Given the description of an element on the screen output the (x, y) to click on. 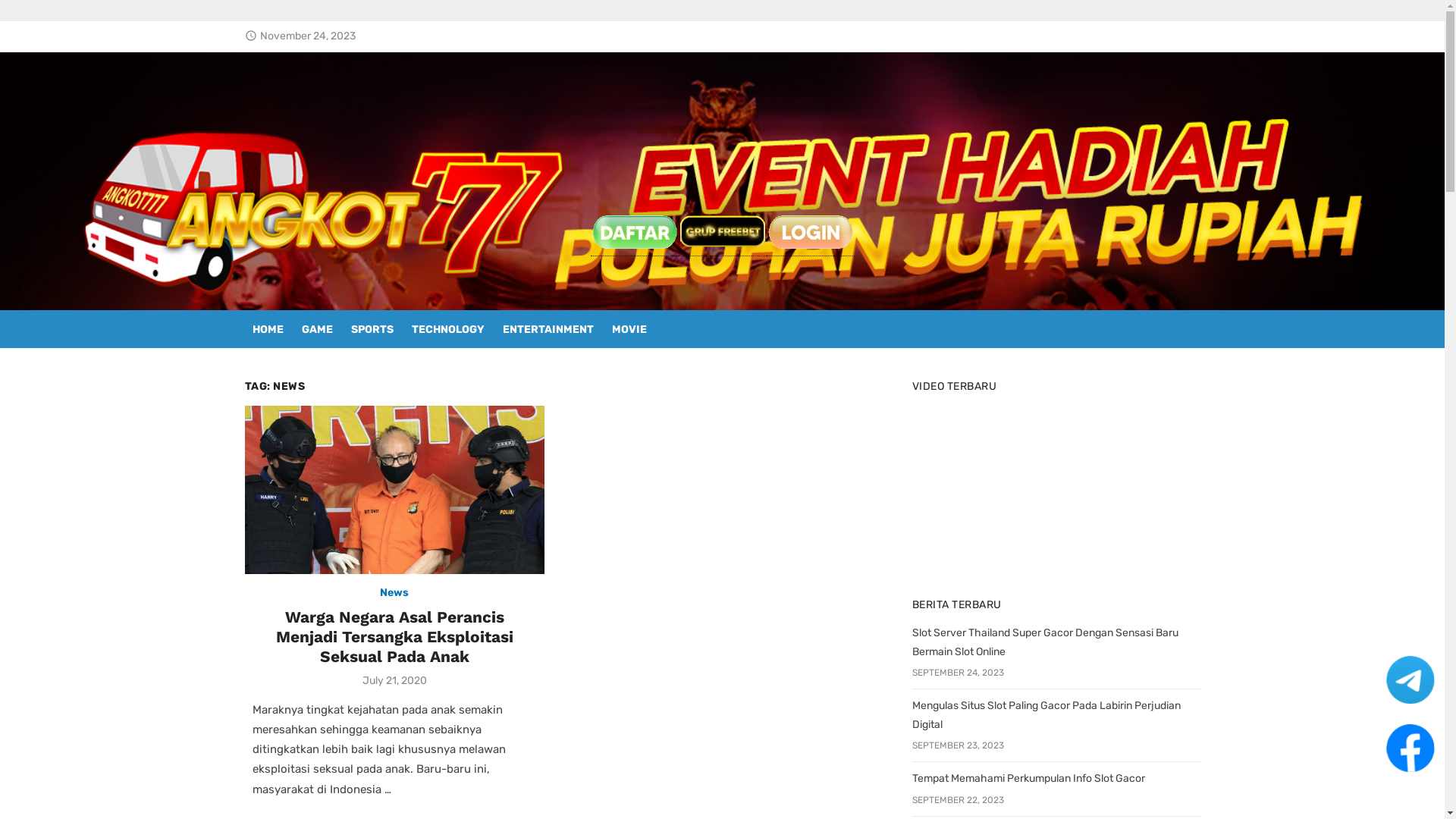
News Element type: text (393, 592)
facebook angkot777 Element type: hover (1408, 744)
MOVIE Element type: text (628, 329)
Angkot777 | 301BinaryOptions Element type: text (349, 208)
HOME Element type: text (266, 329)
telegram angkot777 Element type: hover (1406, 674)
login angkot777 Element type: hover (809, 231)
telegram angkot777 Element type: hover (1406, 675)
July 21, 2020 Element type: text (394, 680)
ENTERTAINMENT Element type: text (547, 329)
Tempat Memahami Perkumpulan Info Slot Gacor Element type: text (1027, 777)
freebet angkot777 Element type: hover (721, 231)
facebook angkot777 Element type: hover (1409, 746)
TECHNOLOGY Element type: text (446, 329)
GAME Element type: text (316, 329)
daftar angkot777 Element type: hover (633, 231)
SPORTS Element type: text (371, 329)
